Given the description of an element on the screen output the (x, y) to click on. 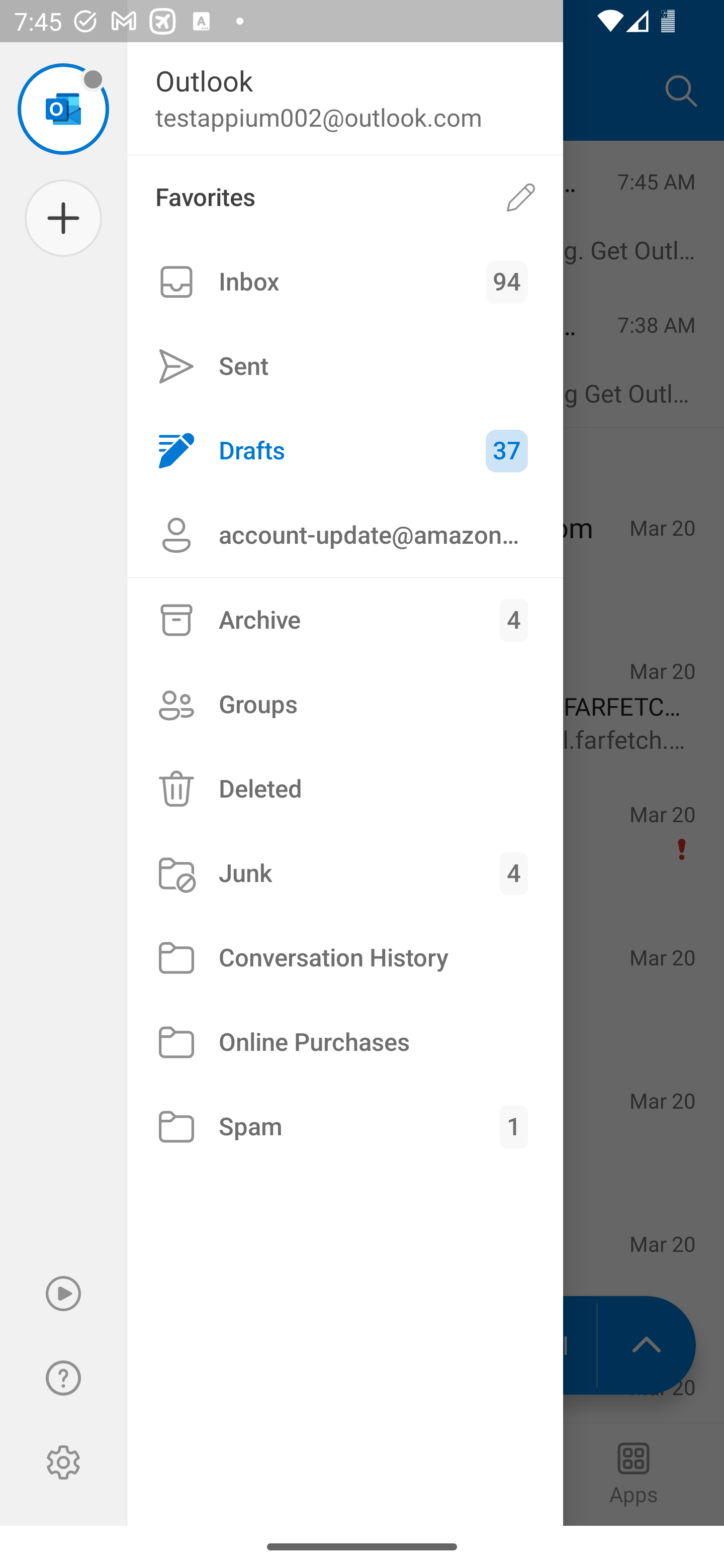
Edit favorites (520, 197)
Add account (63, 217)
Inbox Inbox, 94 unread emails (345, 281)
Sent (345, 366)
Drafts Drafts, 37 unread emails,Selected (345, 450)
account-update@amazon.com (345, 534)
Archive Archive, 2 of 8, level 1, 4 unread emails (345, 619)
Groups Groups, 3 of 8, level 1 (345, 703)
Deleted Deleted, 4 of 8, level 1 (345, 788)
Junk Junk, 5 of 8, level 1, 4 unread emails (345, 873)
Online Purchases Online Purchases, 7 of 8, level 1 (345, 1042)
Spam Spam, 8 of 8, level 1, 1 unread email (345, 1127)
Play My Emails (62, 1293)
Help (62, 1377)
Settings (62, 1462)
